Given the description of an element on the screen output the (x, y) to click on. 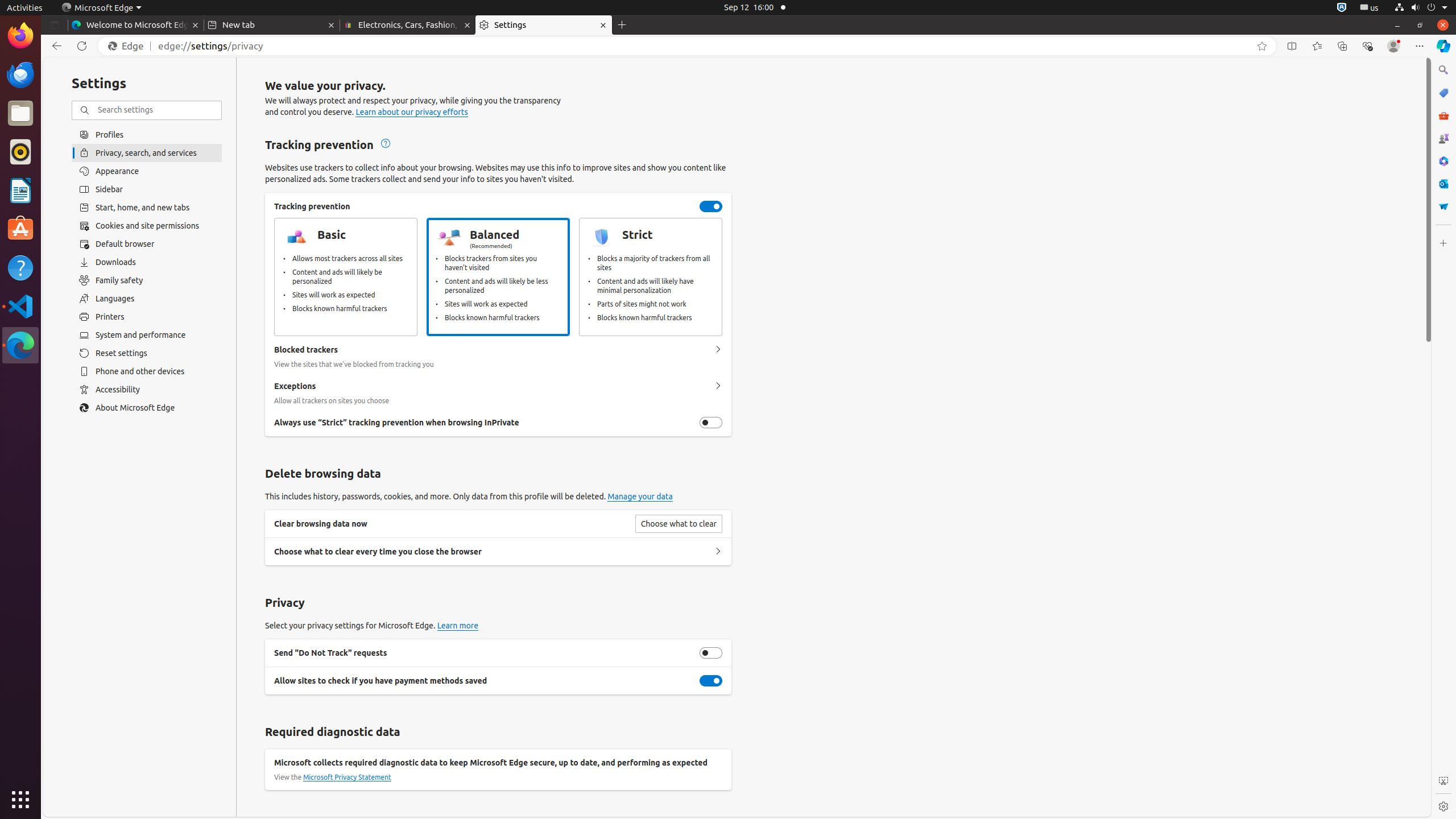
Balanced (Recommended) Blocks trackers from sites you haven't visited Content and ads will likely be less personalized Sites will work as expected Blocks known harmful trackers Element type: radio-button (497, 276)
Split screen Element type: push-button (1291, 45)
Always use “Strict” tracking prevention when browsing InPrivate Element type: check-box (710, 422)
Phone and other devices Element type: tree-item (146, 371)
Microsoft 365 Element type: push-button (1443, 160)
